Given the description of an element on the screen output the (x, y) to click on. 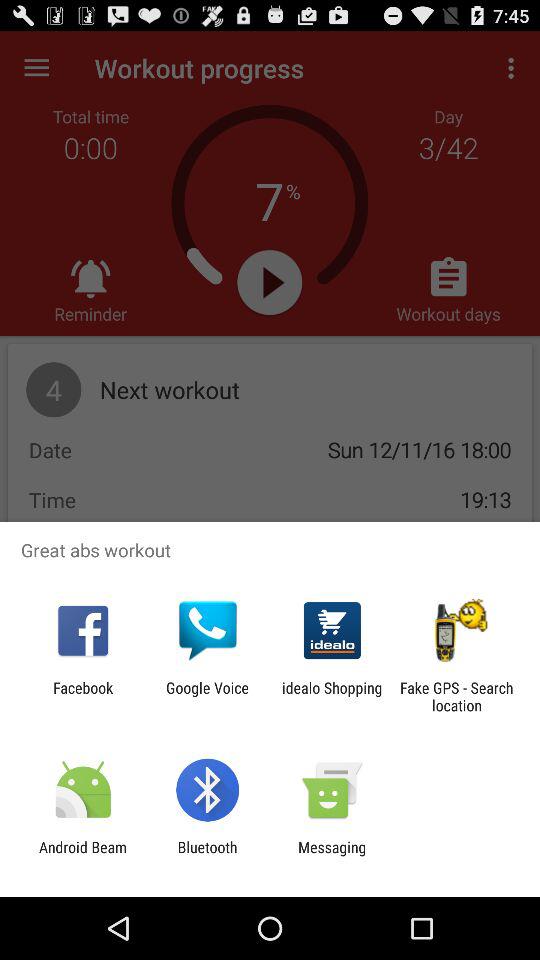
click the icon to the right of the bluetooth item (332, 856)
